Given the description of an element on the screen output the (x, y) to click on. 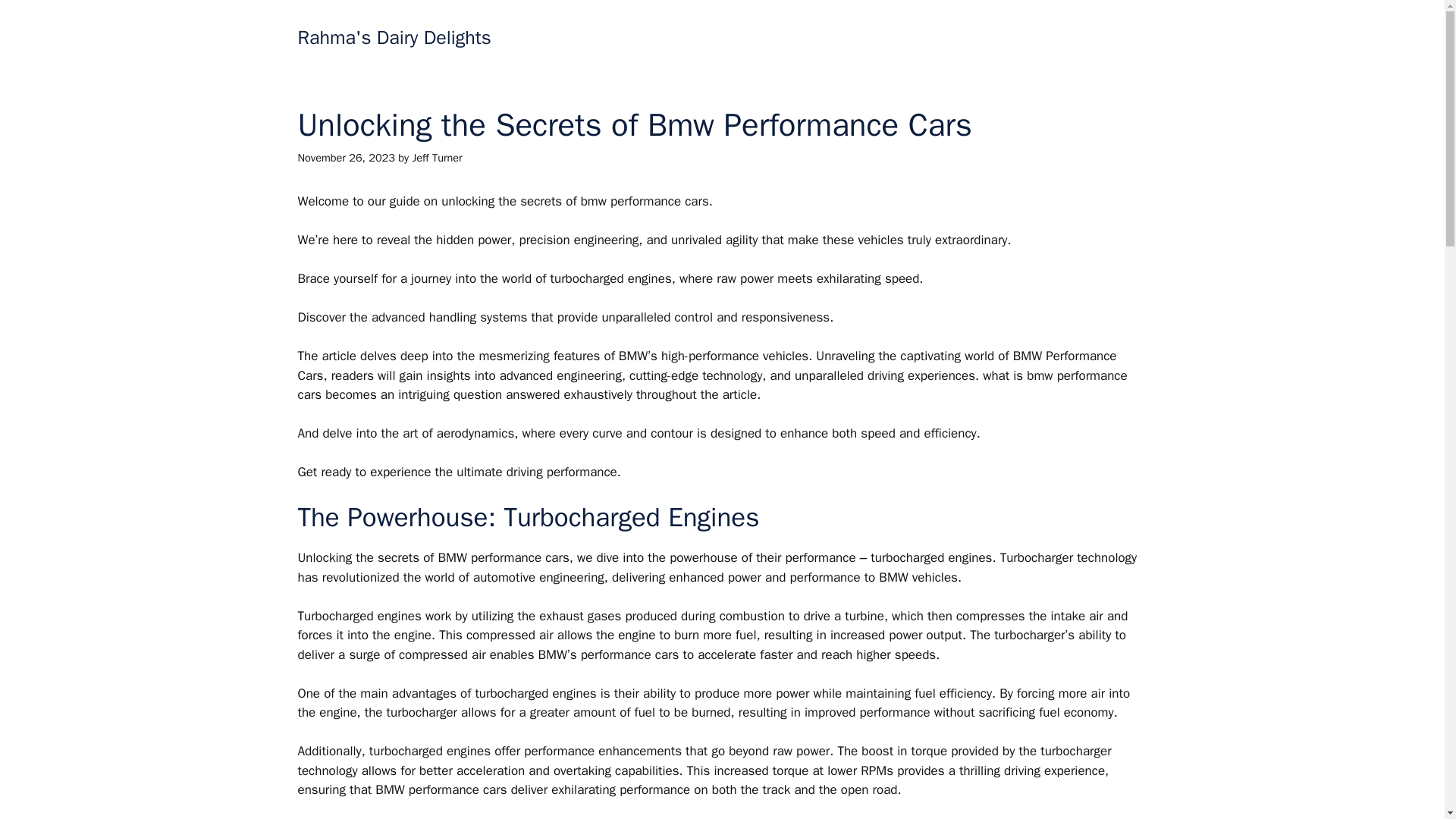
what is bmw performance cars (711, 385)
Disclaimer (965, 37)
View all posts by Jeff Turner (436, 157)
Terms and Conditions (1077, 37)
Contact Us (711, 37)
Privacy Policy (877, 37)
Rahma's Dairy Delights (393, 37)
unlocking the secrets of bmw performance cars (574, 201)
Jeff Turner (436, 157)
About Us (791, 37)
